Given the description of an element on the screen output the (x, y) to click on. 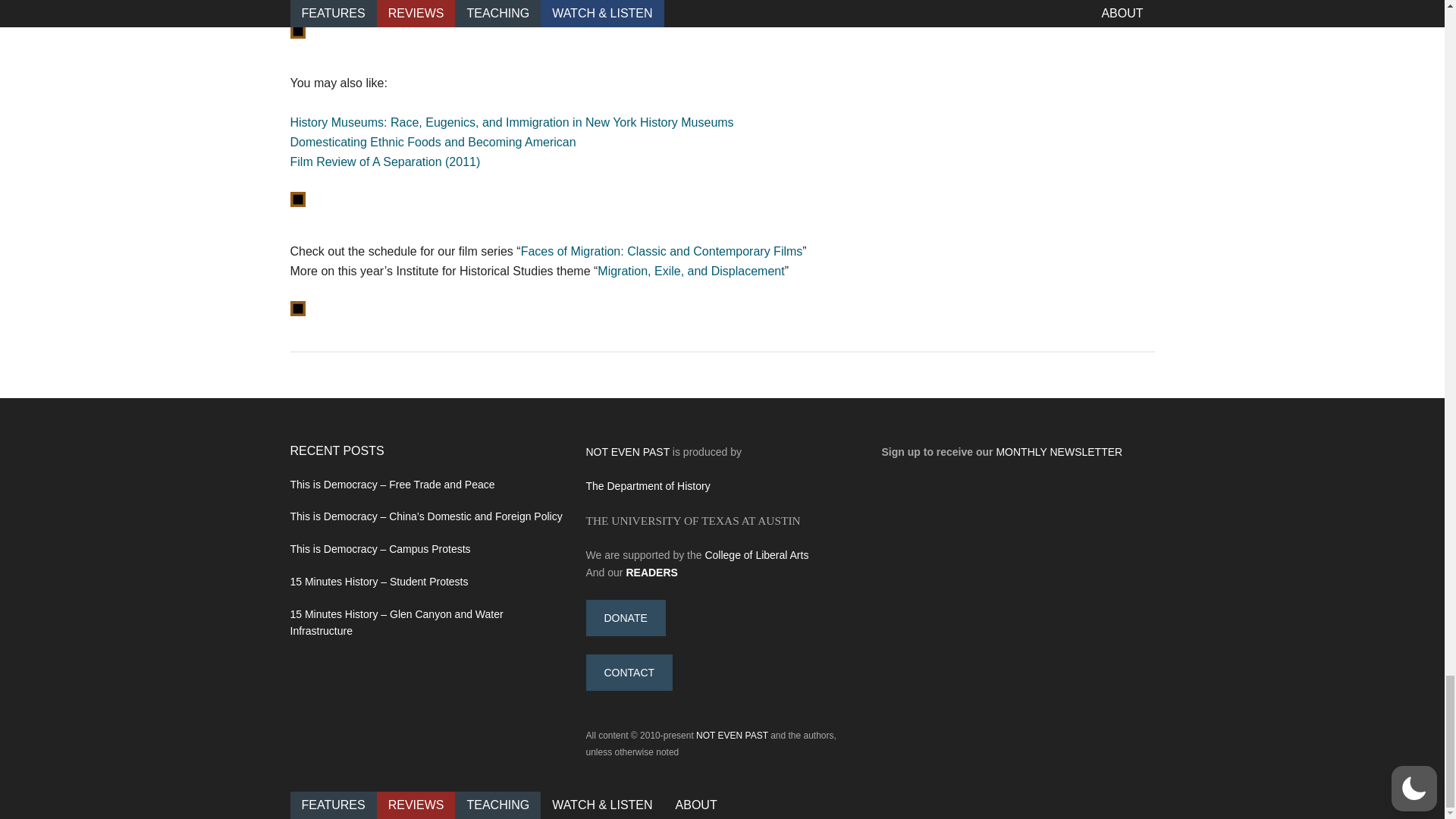
Domesticating Ethnic Foods and Becoming American (432, 141)
Migration, Exile, and Displacement (690, 270)
Faces of Migration: Classic and Contemporary Films (662, 250)
